Given the description of an element on the screen output the (x, y) to click on. 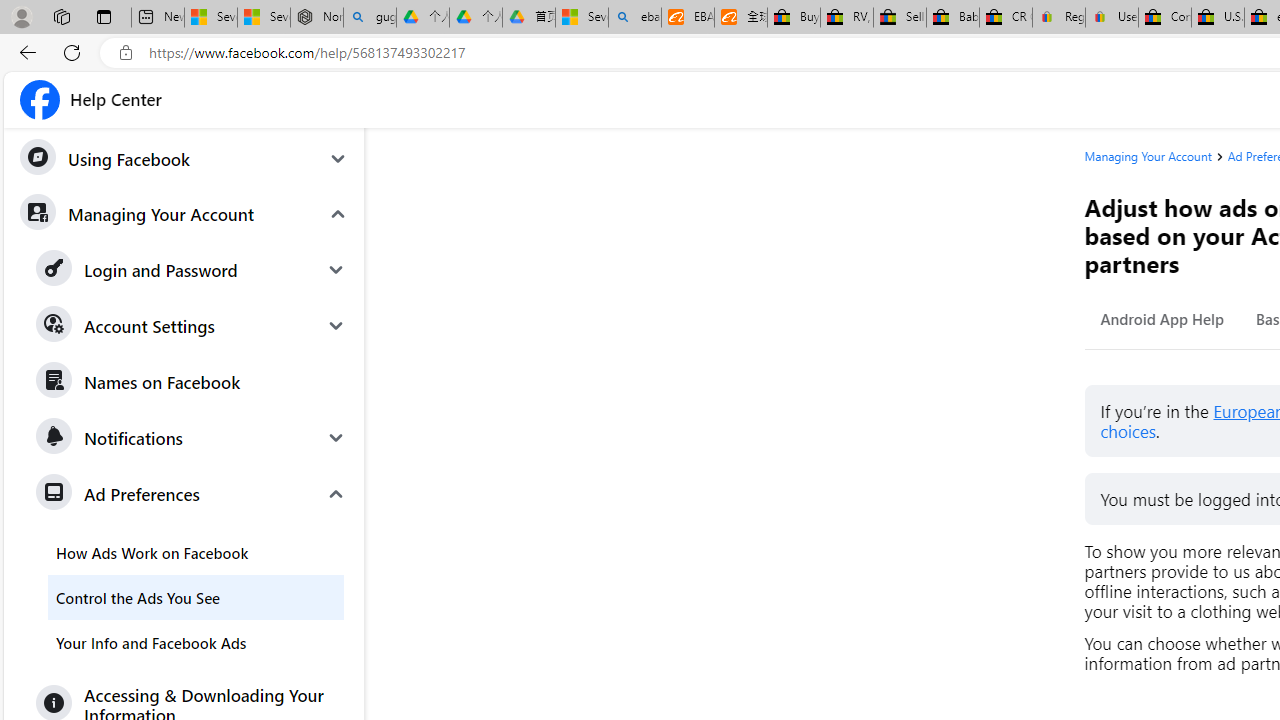
RV, Trailer & Camper Steps & Ladders for sale | eBay (846, 17)
guge yunpan - Search (369, 17)
Notifications Expand (191, 437)
Notifications (191, 437)
Baby Keepsakes & Announcements for sale | eBay (952, 17)
Buy Auto Parts & Accessories | eBay (794, 17)
Using Facebook (183, 159)
Managing Your Account (1155, 156)
Names on Facebook (191, 381)
Managing Your Account (1148, 156)
Sell worldwide with eBay (899, 17)
Your Info and Facebook Ads (196, 642)
